Given the description of an element on the screen output the (x, y) to click on. 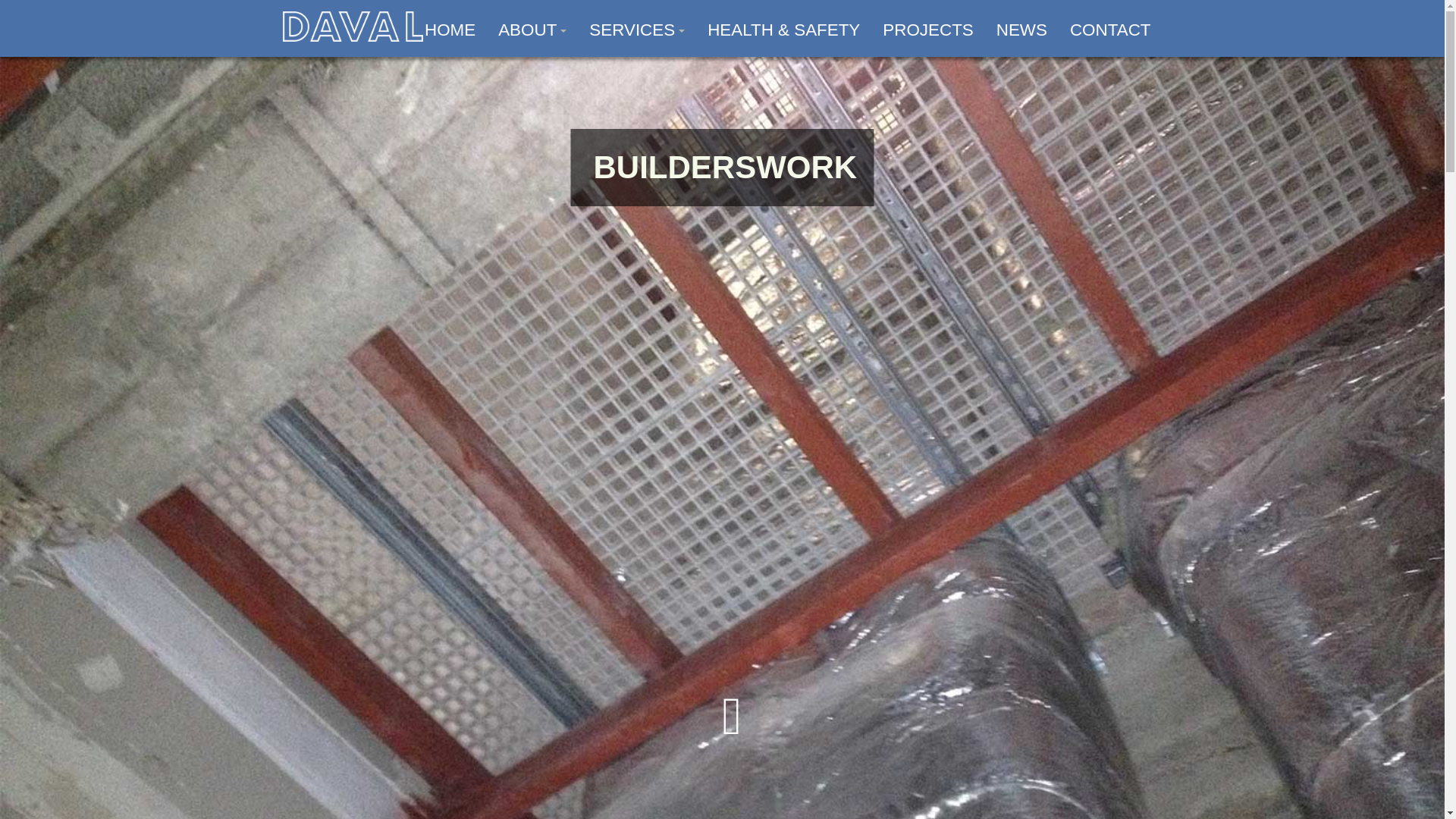
PROJECTS (927, 30)
SERVICES (636, 30)
CONTACT (1109, 30)
HOME (449, 30)
ABOUT (532, 30)
NEWS (1021, 30)
